Given the description of an element on the screen output the (x, y) to click on. 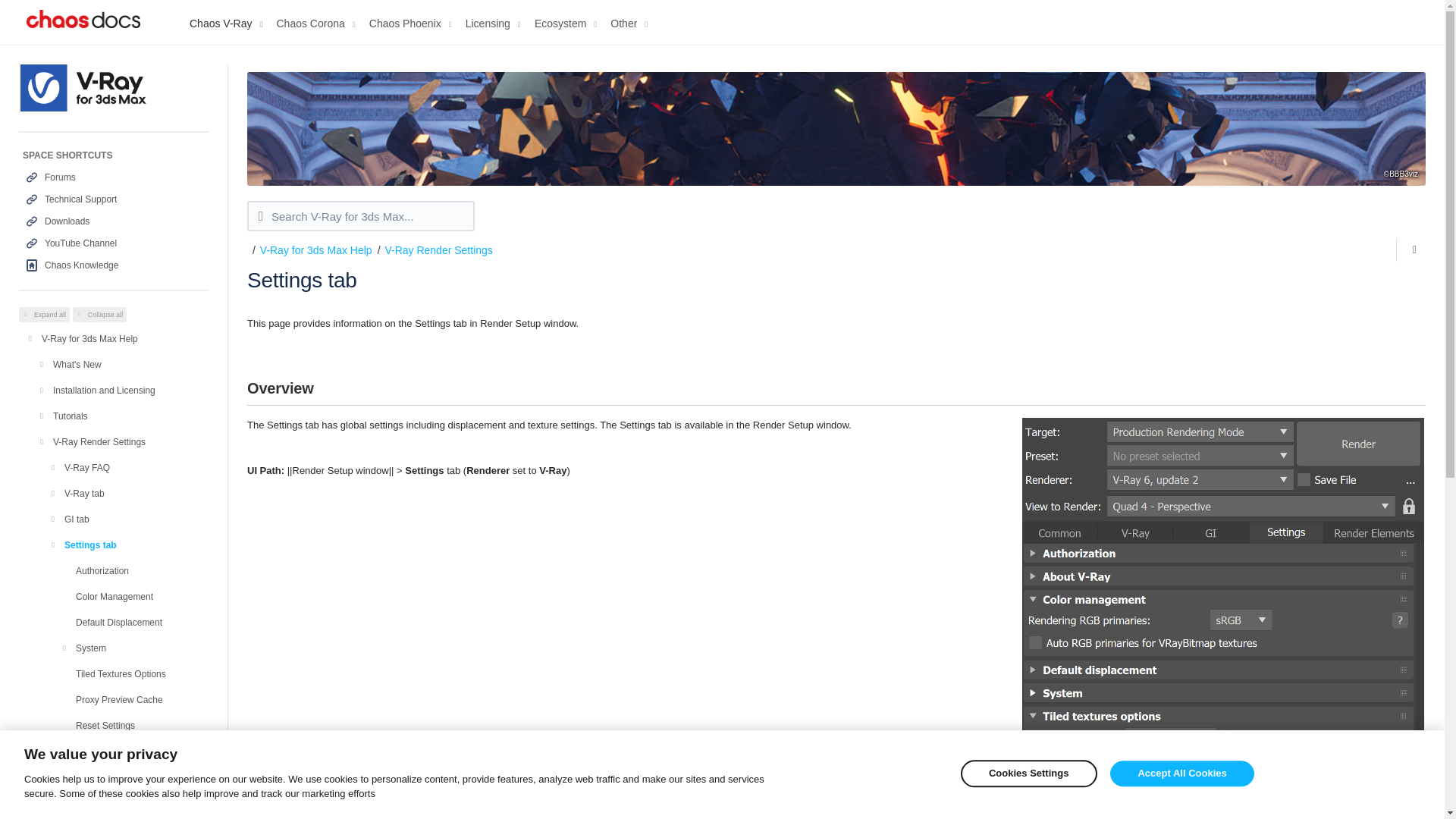
Other (631, 19)
Forums (114, 177)
Expand all (43, 313)
Collapse all (100, 313)
What's New (130, 364)
What's New (130, 364)
Chaos V-Ray (228, 19)
Installation and Licensing (130, 390)
V-Ray for 3ds Max Help (125, 338)
Chaos Knowledge (114, 265)
Chaos Phoenix (413, 19)
Licensing (496, 19)
Downloads (114, 221)
V-Ray for 3ds Max Help (125, 338)
Ecosystem (568, 19)
